Given the description of an element on the screen output the (x, y) to click on. 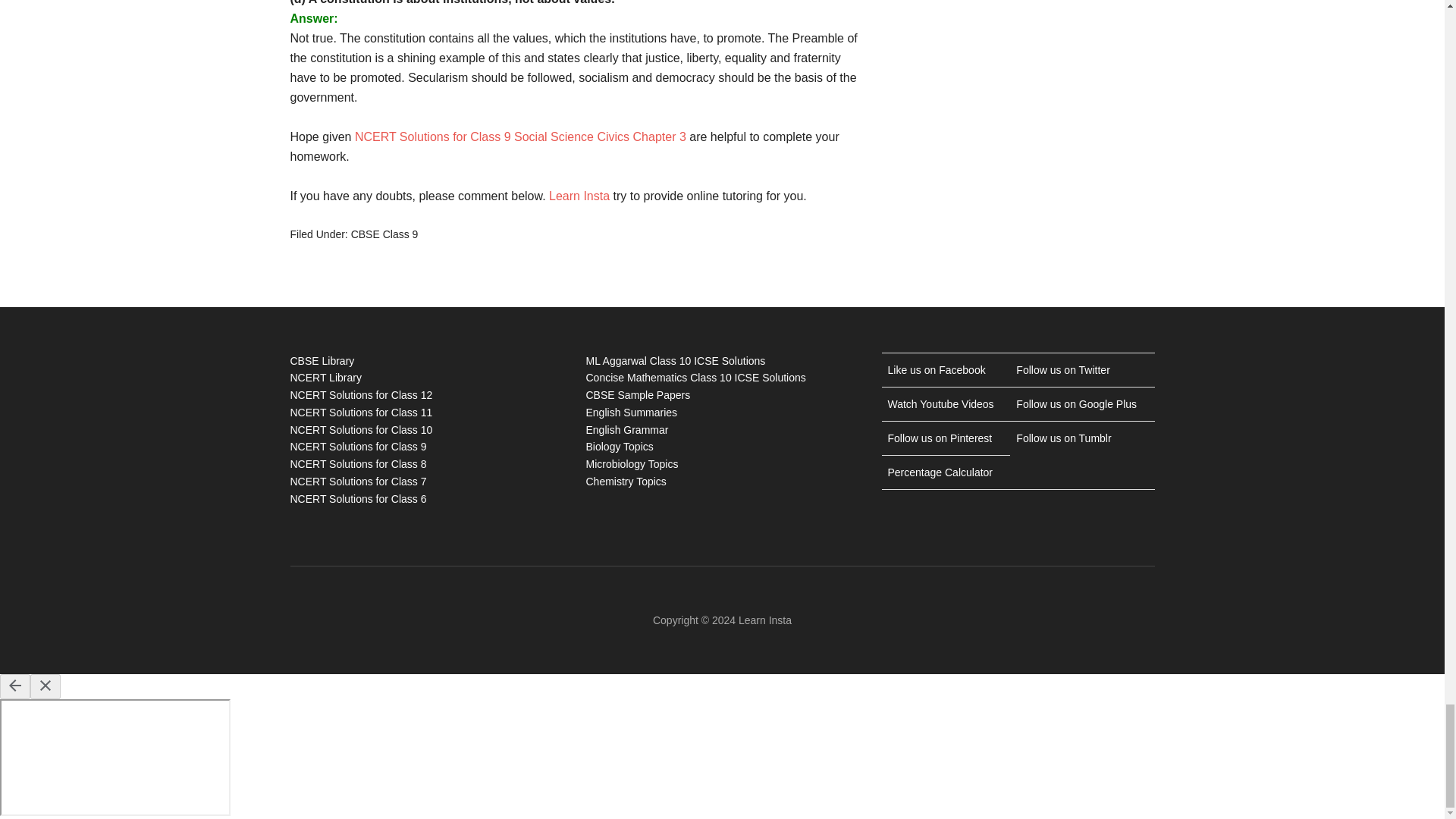
NCERT Solutions for Class 9 Social Science Civics Chapter 3 (520, 136)
Learn Insta (579, 195)
CBSE Class 9 (384, 234)
